Given the description of an element on the screen output the (x, y) to click on. 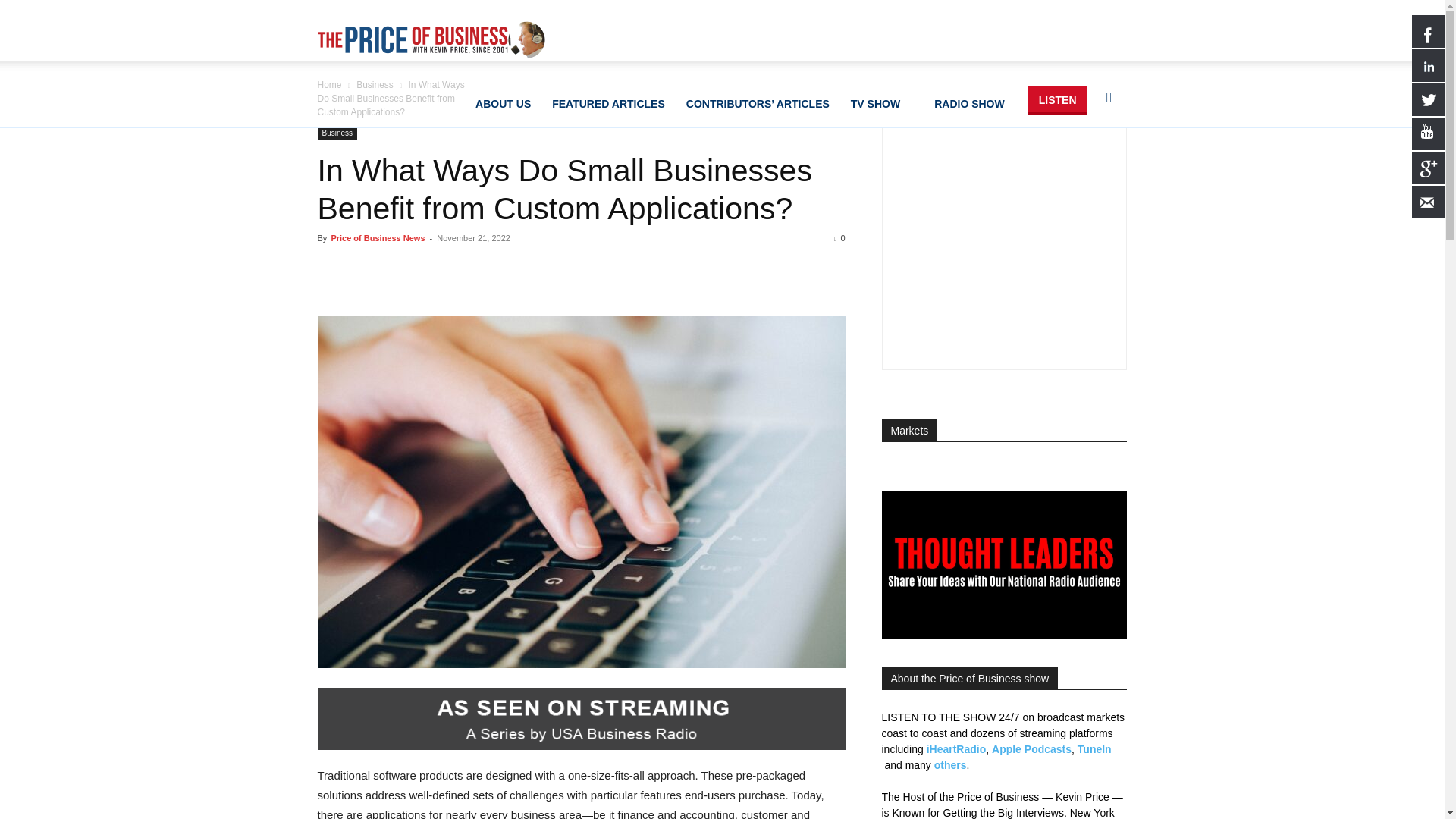
FEATURED ARTICLES (608, 100)
View all posts in Business (374, 84)
RADIO SHOW (975, 100)
Search (1085, 169)
Price of Business (430, 39)
TV SHOW (881, 100)
ABOUT US (502, 100)
